Given the description of an element on the screen output the (x, y) to click on. 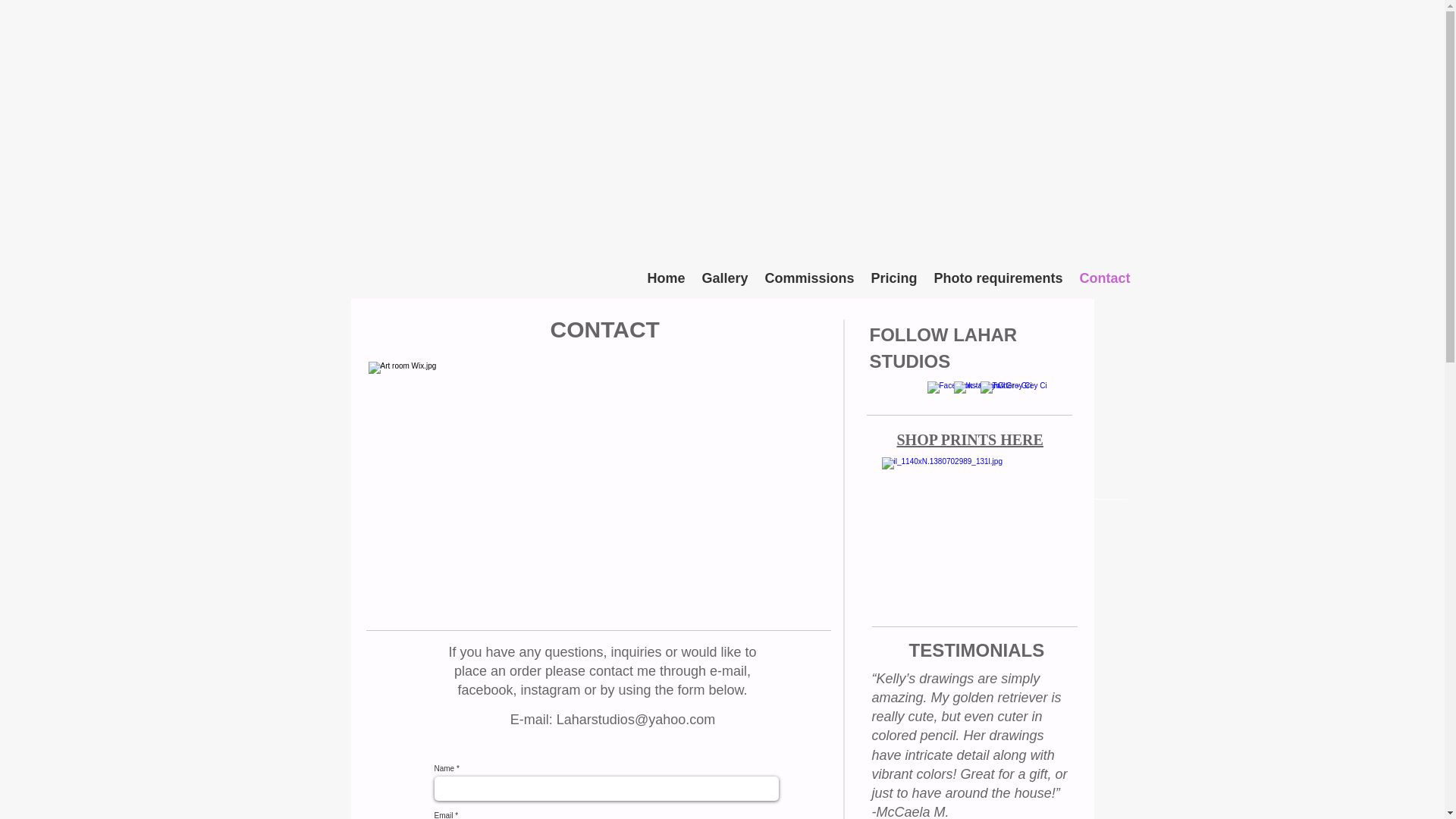
Photo requirements (997, 278)
Pricing (894, 278)
SHOP PRINTS HERE (969, 439)
Gallery (724, 278)
Contact (1104, 278)
Commissions (810, 278)
